Given the description of an element on the screen output the (x, y) to click on. 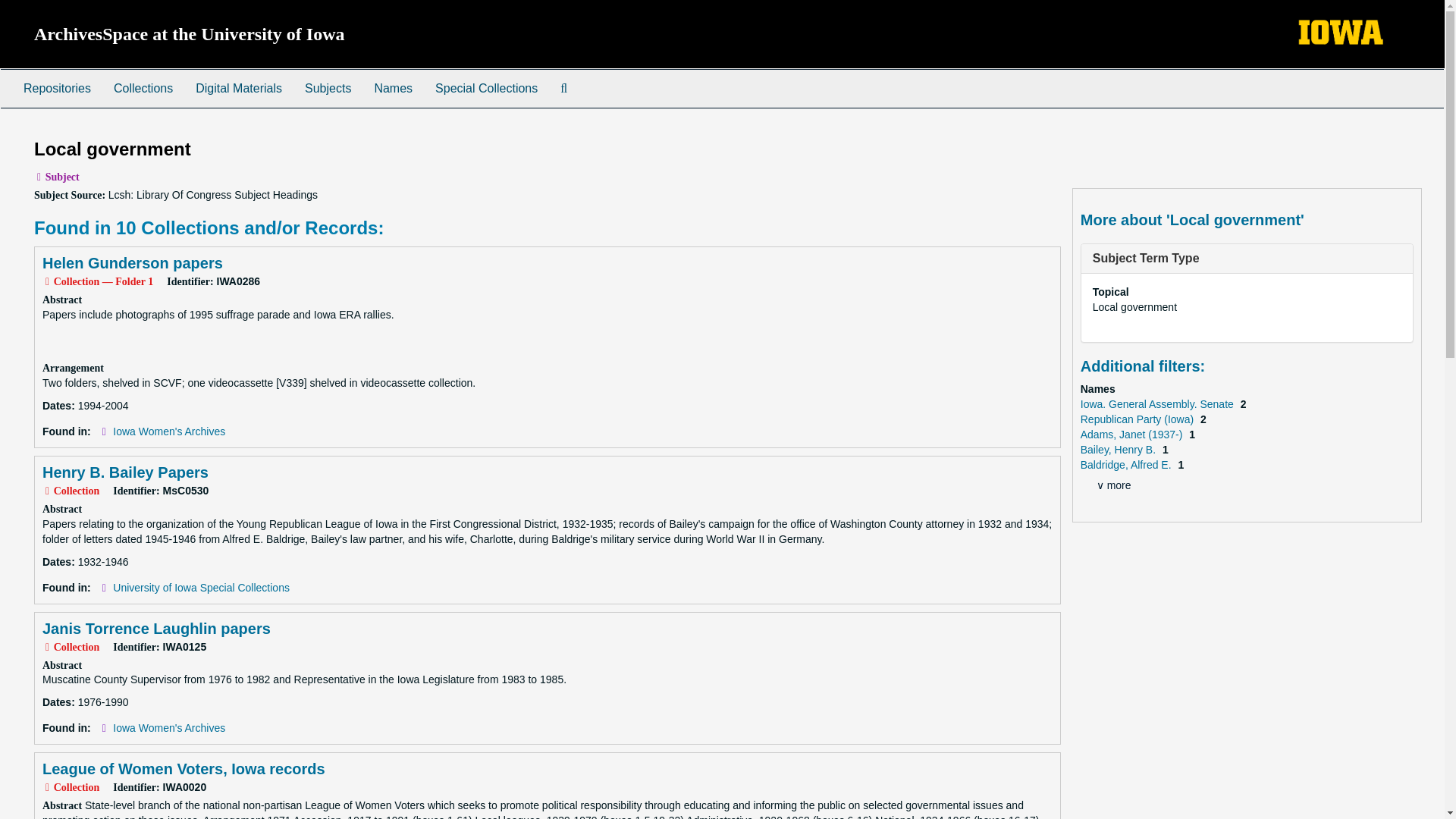
Henry B. Bailey Papers (125, 472)
ArchivesSpace at the University of Iowa (189, 34)
Iowa Women's Archives (169, 727)
Helen Gunderson papers (132, 262)
Digital Materials (239, 88)
Iowa Women's Archives (169, 431)
Collections (142, 88)
Return to the ArchivesSpace homepage (189, 34)
Repositories (56, 88)
Baldridge, Alfred E. (1127, 464)
Subjects (328, 88)
Filter By 'Bailey, Henry B.' (1119, 449)
Iowa. General Assembly. Senate (1158, 404)
Names (392, 88)
University of Iowa Special Collections (201, 587)
